Given the description of an element on the screen output the (x, y) to click on. 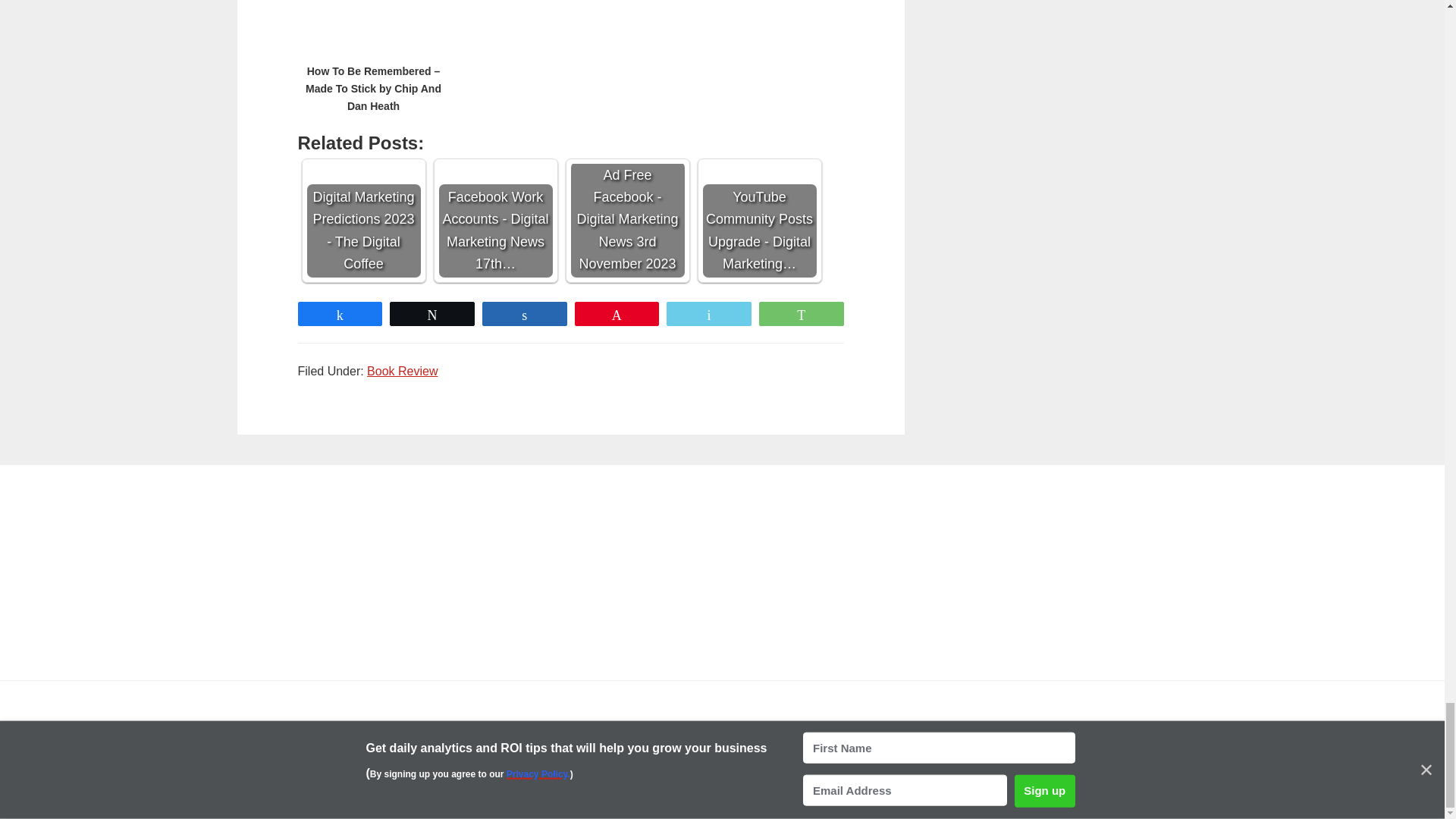
Book Review (402, 370)
Ad Free Facebook - Digital Marketing News 3rd November 2023 (627, 220)
Ad Free Facebook - Digital Marketing News 3rd November 2023 (627, 195)
Digital Marketing Predictions 2023 - The Digital Coffee (362, 220)
Digital Marketing Predictions 2023 - The Digital Coffee (362, 195)
